Given the description of an element on the screen output the (x, y) to click on. 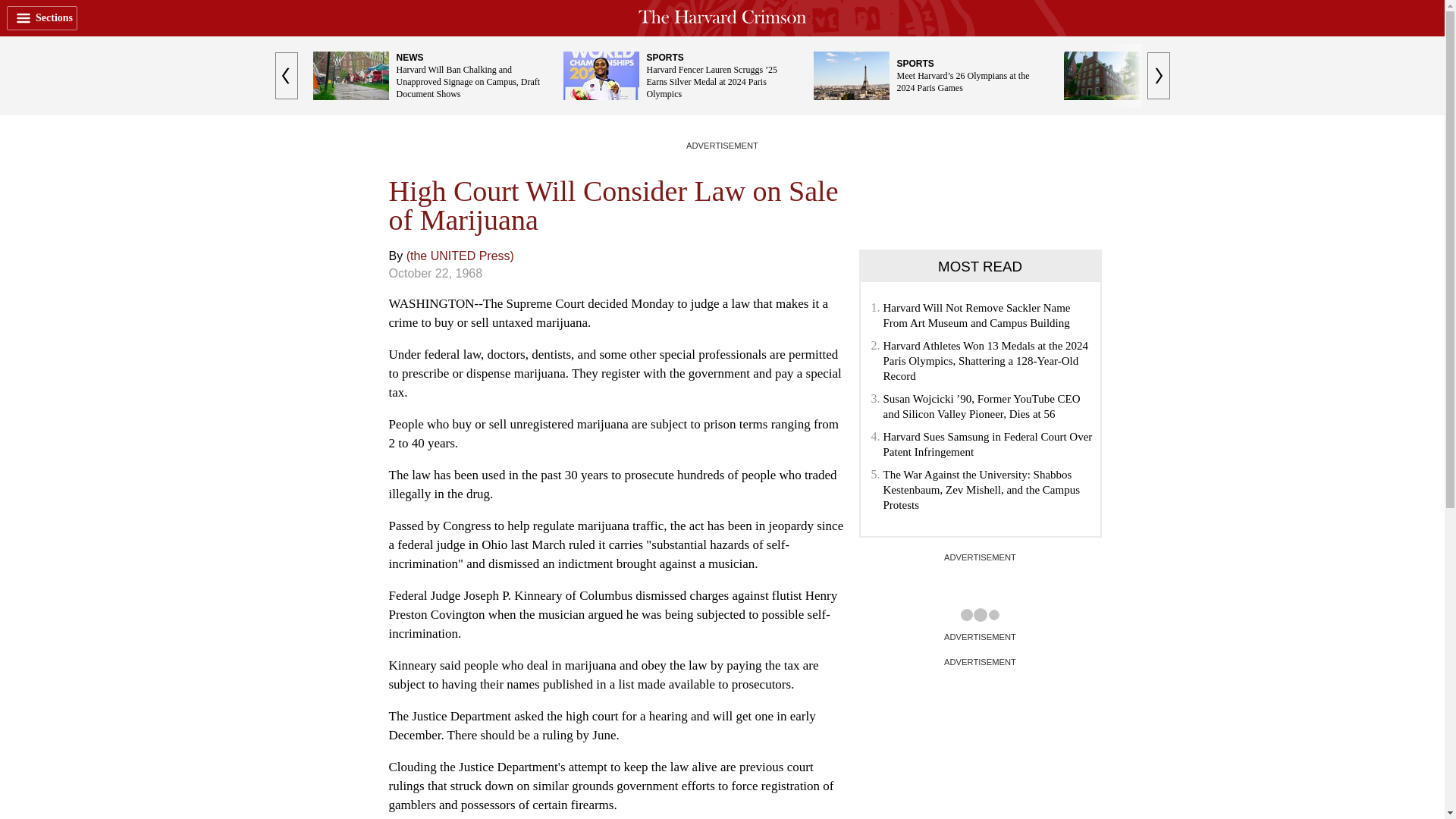
Updated September 28, 2009 at 1:22 am (434, 273)
